Given the description of an element on the screen output the (x, y) to click on. 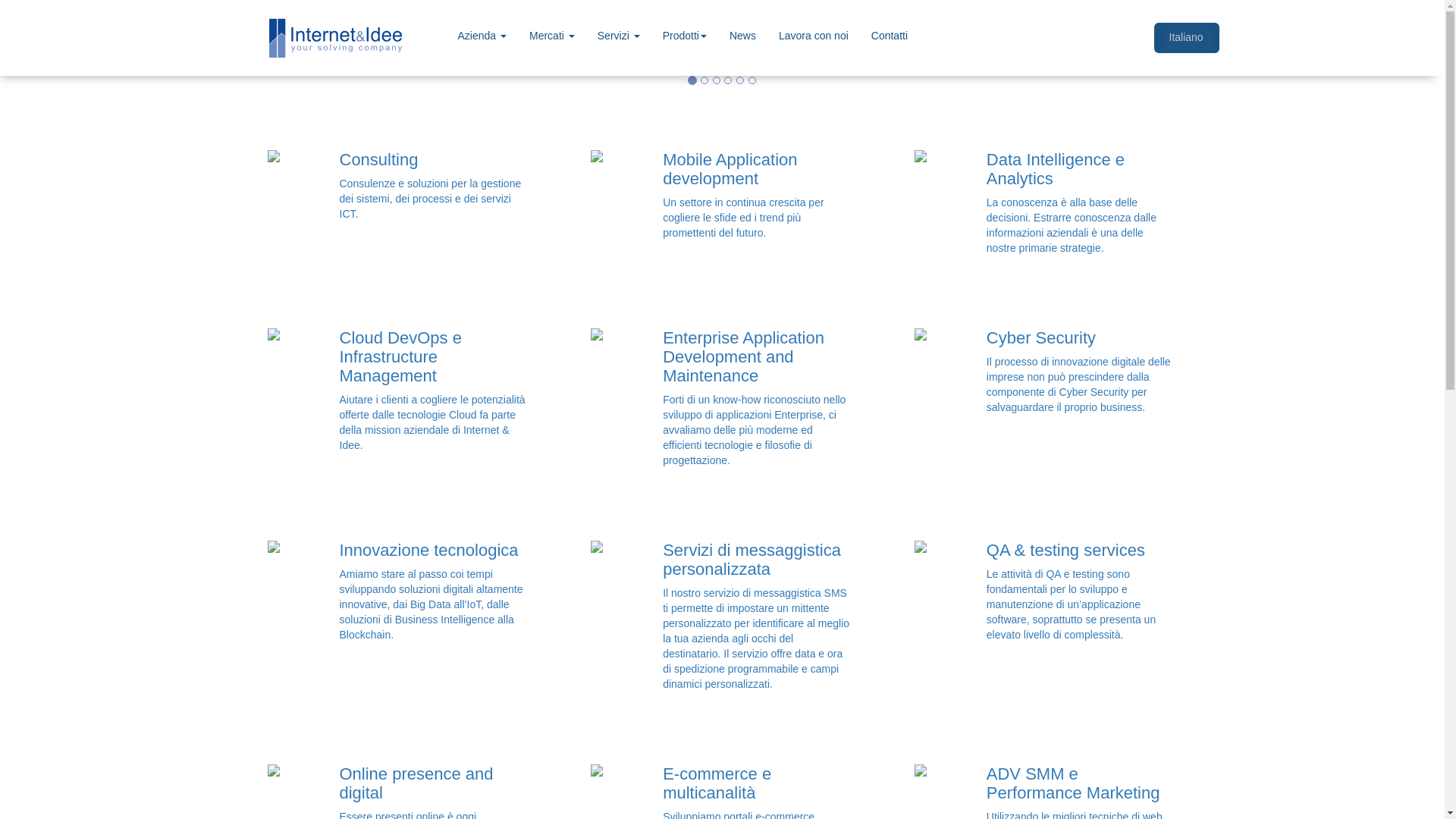
Azienda (480, 35)
Prodotti (683, 35)
Mercati (552, 35)
Servizi (618, 35)
